Given the description of an element on the screen output the (x, y) to click on. 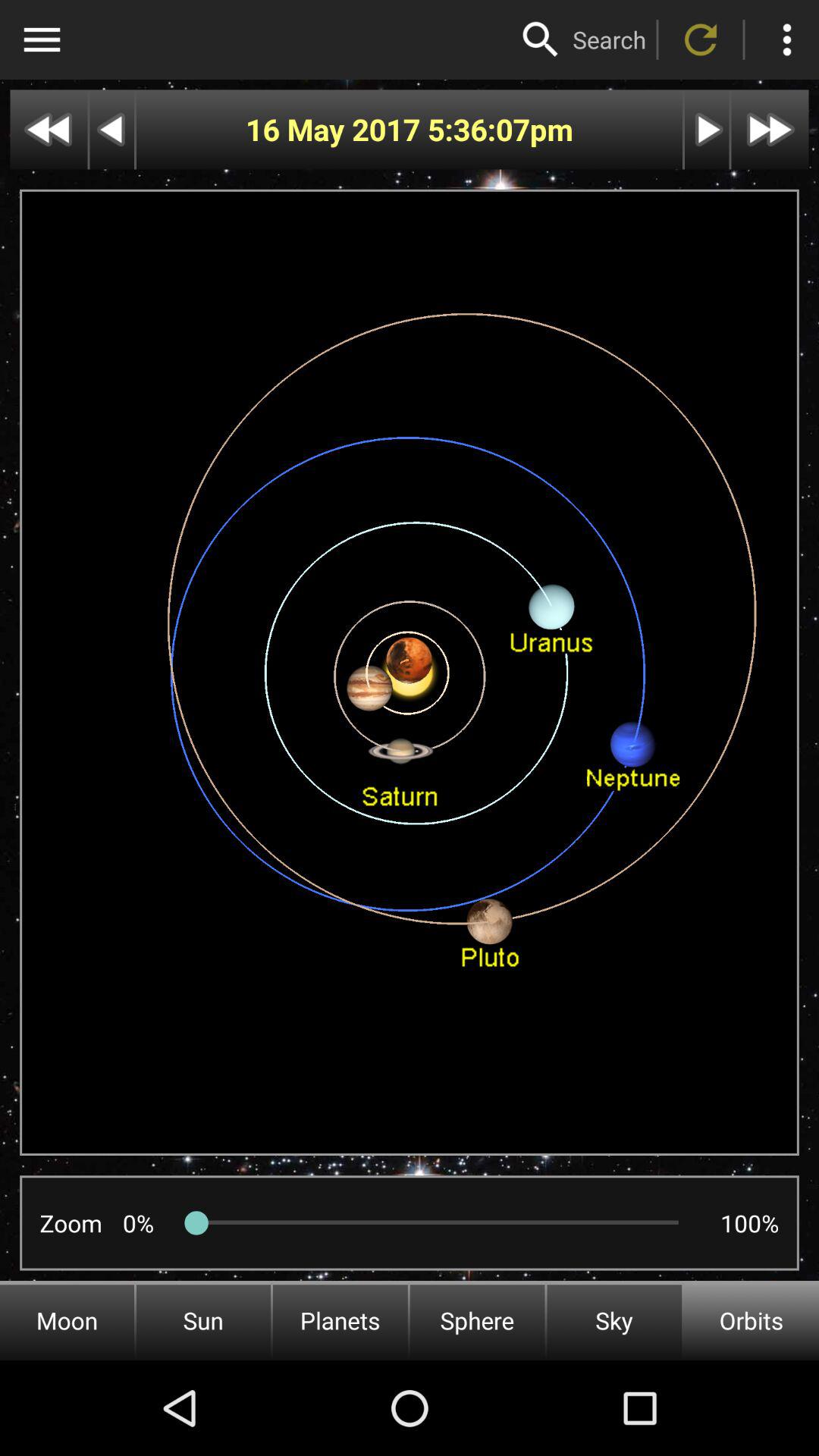
go further back (48, 129)
